Given the description of an element on the screen output the (x, y) to click on. 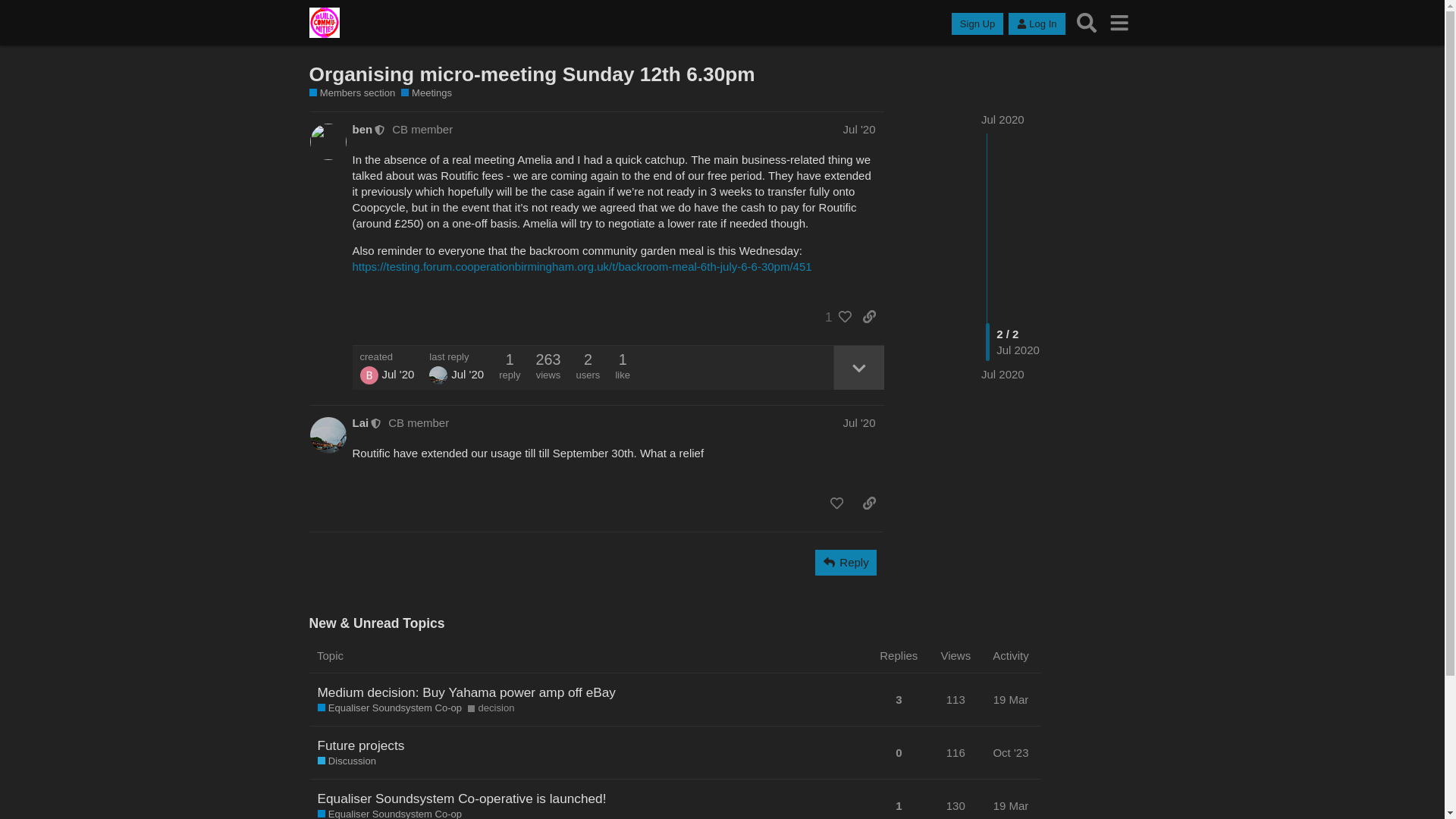
This is where meetings are announced and minutes are posted (426, 92)
19 Mar (1011, 699)
Jul 2020 (1003, 119)
Jul '20 (859, 128)
Post date (859, 128)
Lai Power (437, 375)
Jul '20 (859, 422)
Jul 2020 (1003, 374)
Members section (352, 92)
1 person liked this post (833, 316)
ben (362, 129)
last reply (456, 356)
0 (898, 752)
menu (1119, 22)
